Given the description of an element on the screen output the (x, y) to click on. 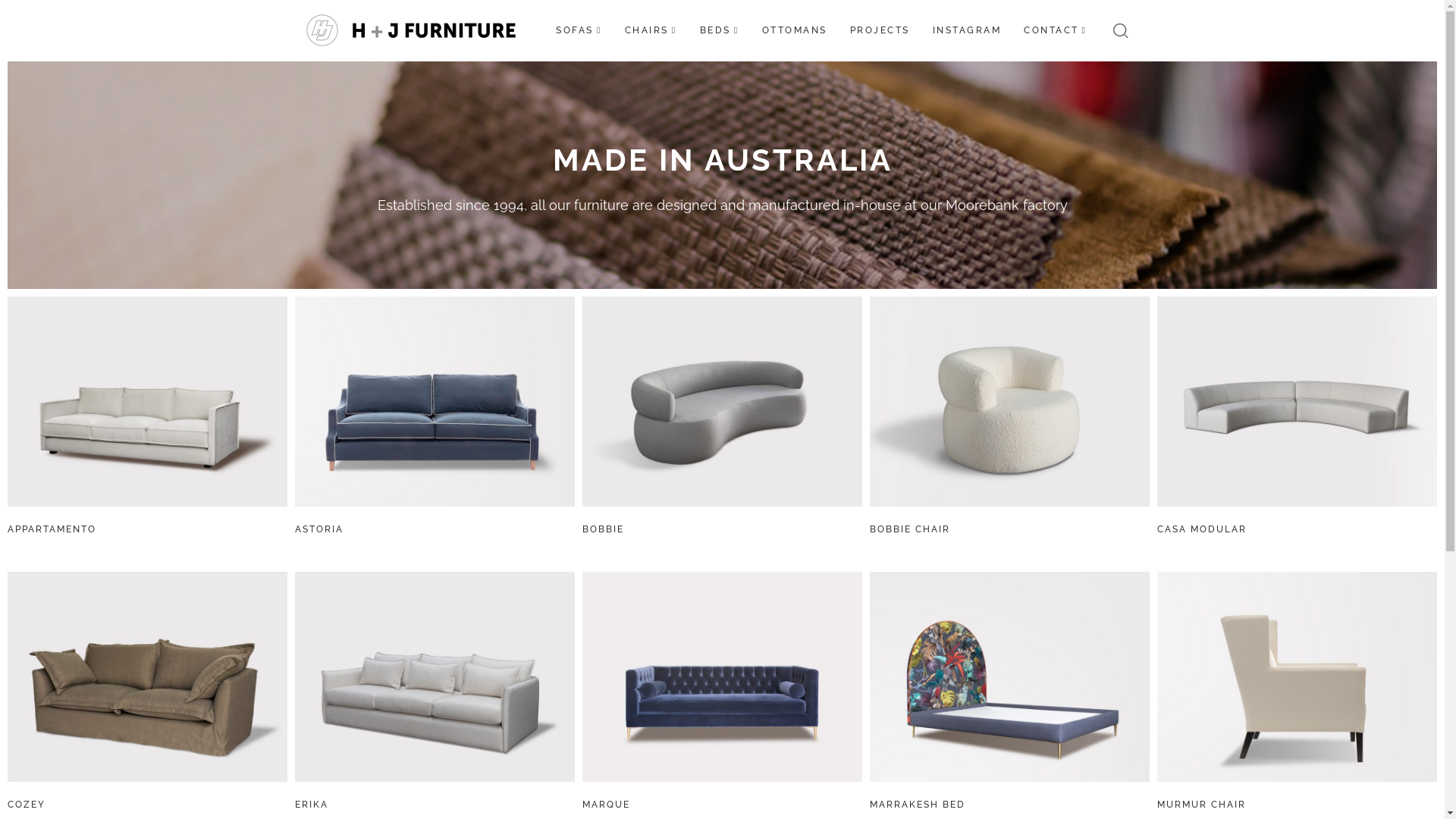
MARQUE Element type: text (606, 804)
CASA MODULAR Element type: text (1201, 529)
BOBBIE Element type: text (603, 529)
INSTAGRAM Element type: text (967, 30)
ASTORIA Element type: text (318, 529)
CONTACT Element type: text (1055, 30)
SOFAS Element type: text (578, 30)
PROJECTS Element type: text (879, 30)
MARRAKESH BED Element type: text (917, 804)
CHAIRS Element type: text (650, 30)
MURMUR CHAIR Element type: text (1201, 804)
APPARTAMENTO Element type: text (51, 529)
BOBBIE CHAIR Element type: text (909, 529)
COZEY Element type: text (26, 804)
OTTOMANS Element type: text (794, 30)
ERIKA Element type: text (311, 804)
BEDS Element type: text (719, 30)
